Given the description of an element on the screen output the (x, y) to click on. 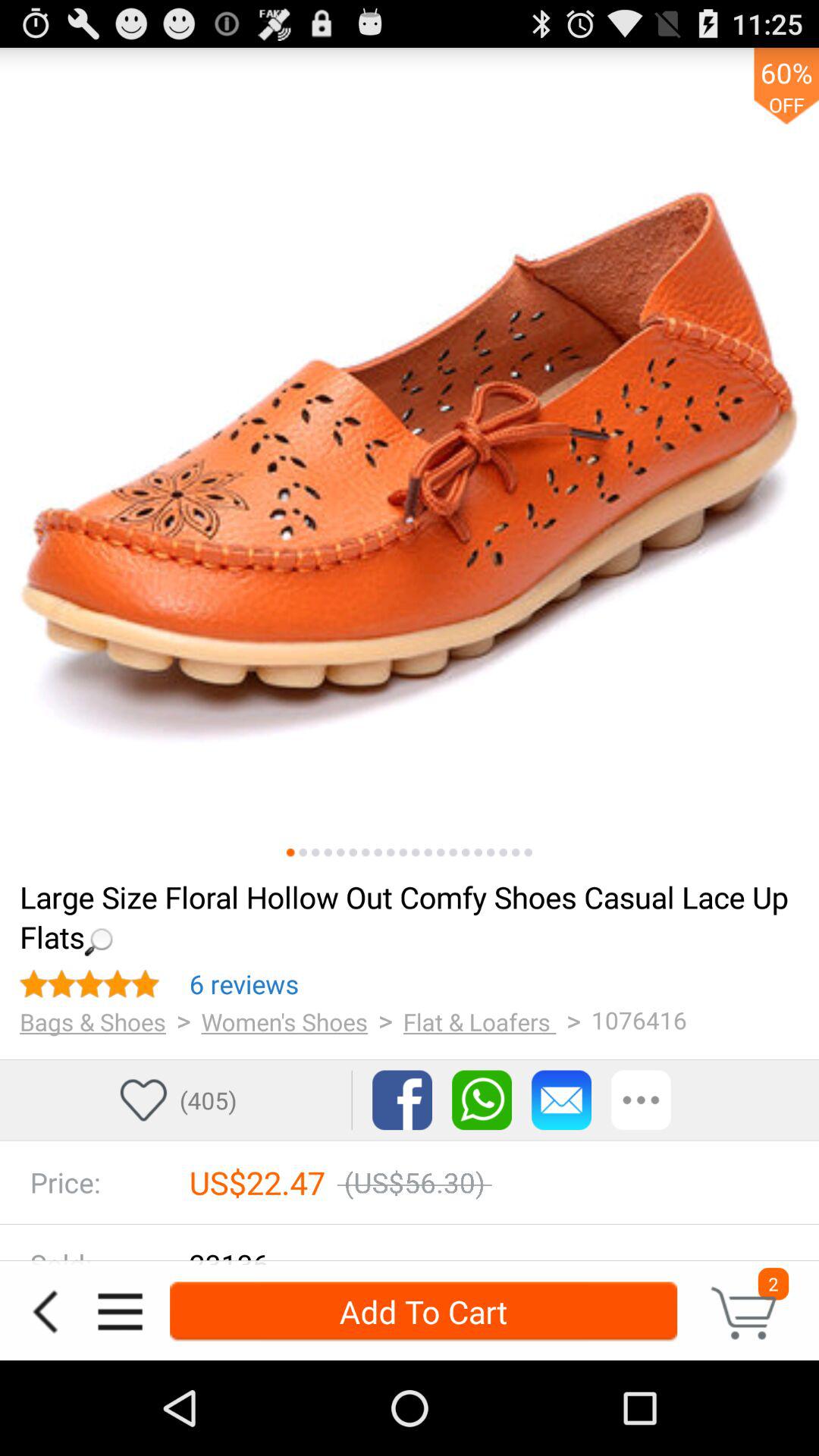
go to menu (120, 1311)
